Given the description of an element on the screen output the (x, y) to click on. 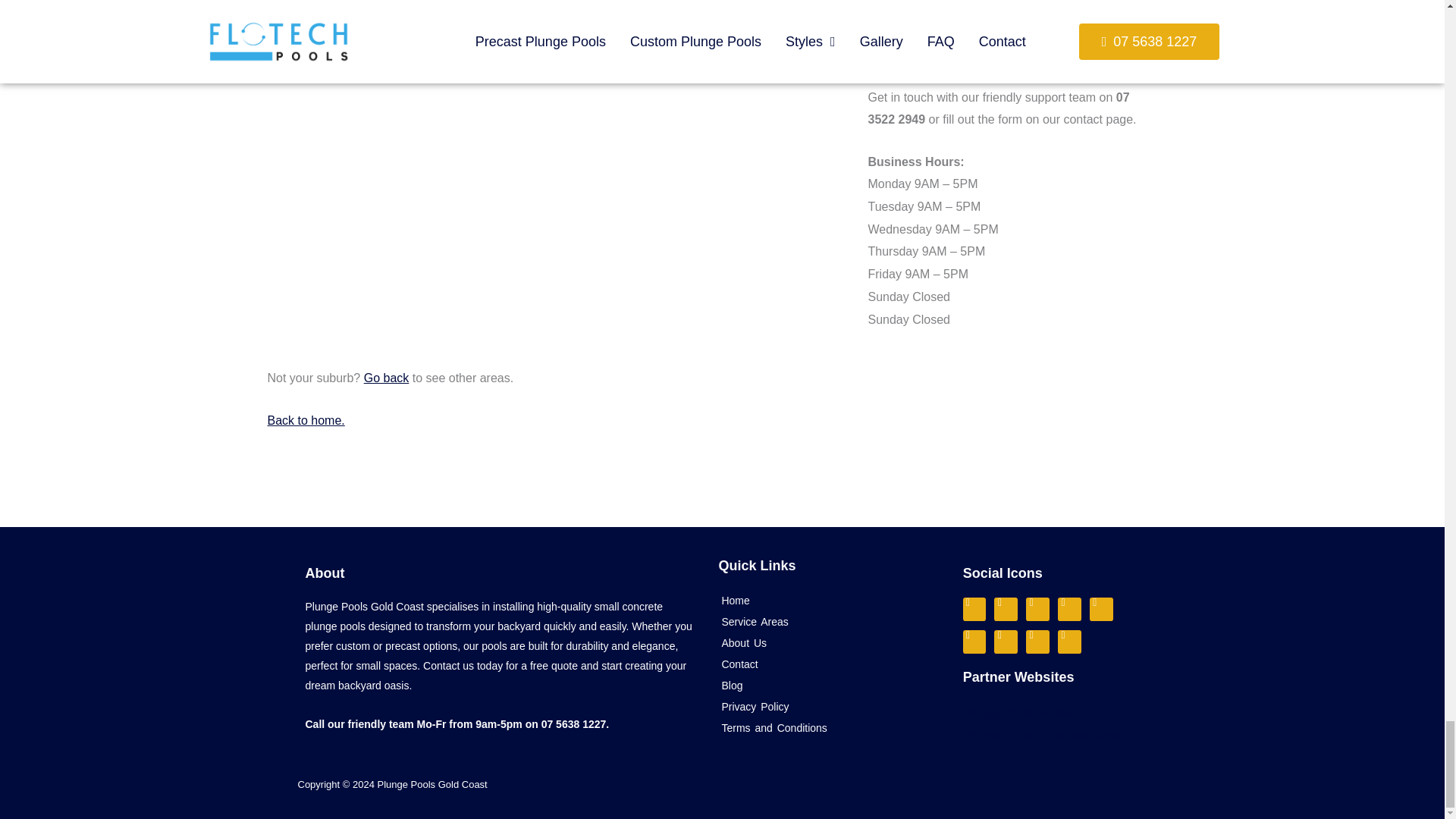
Google map of Robina (575, 199)
